Given the description of an element on the screen output the (x, y) to click on. 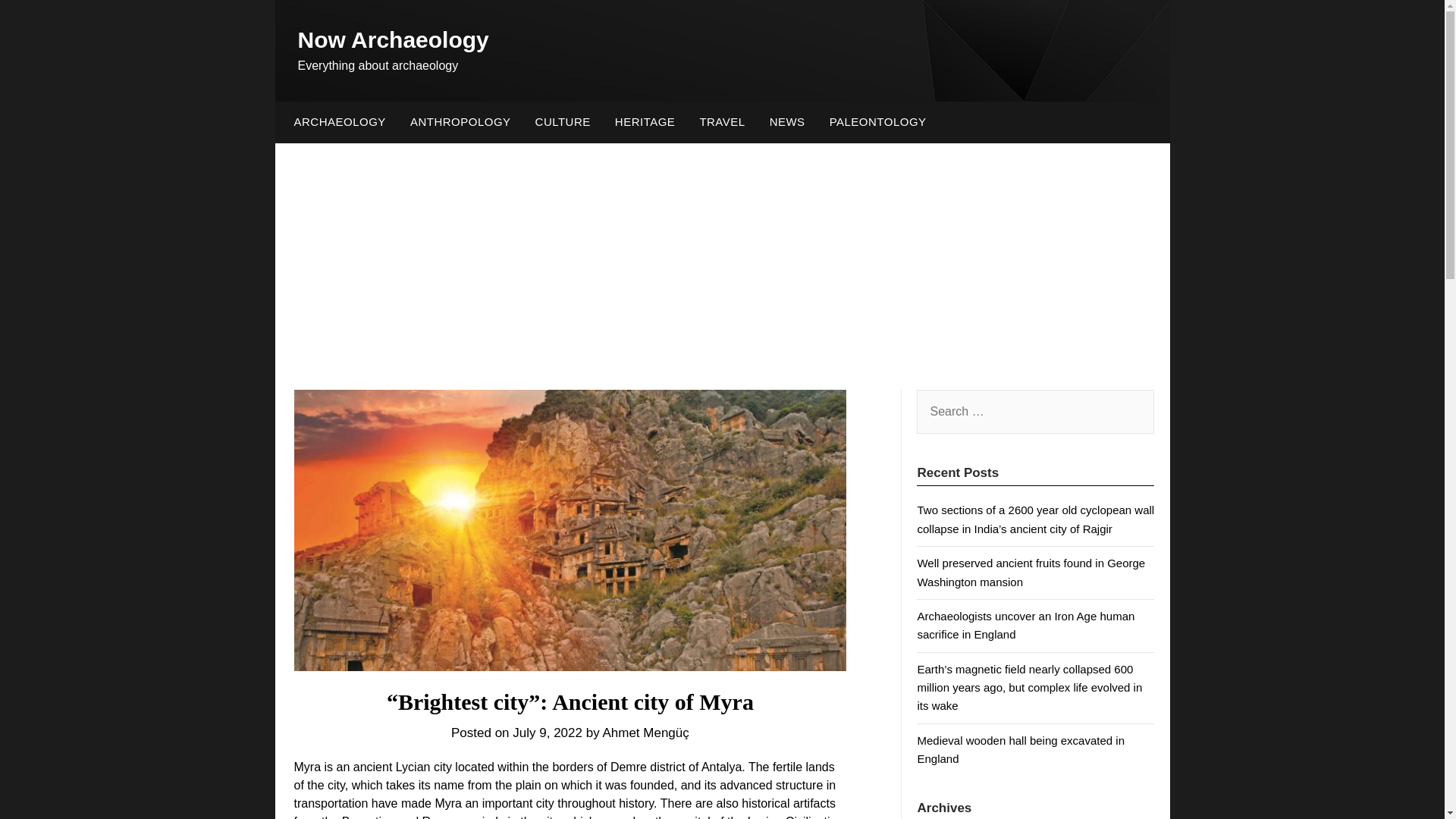
Now Archaeology (392, 39)
ARCHAEOLOGY (336, 121)
Search (38, 22)
NEWS (786, 121)
TRAVEL (722, 121)
ANTHROPOLOGY (459, 121)
PALEONTOLOGY (877, 121)
Medieval wooden hall being excavated in England (1020, 748)
HERITAGE (644, 121)
CULTURE (562, 121)
July 9, 2022 (547, 732)
